Given the description of an element on the screen output the (x, y) to click on. 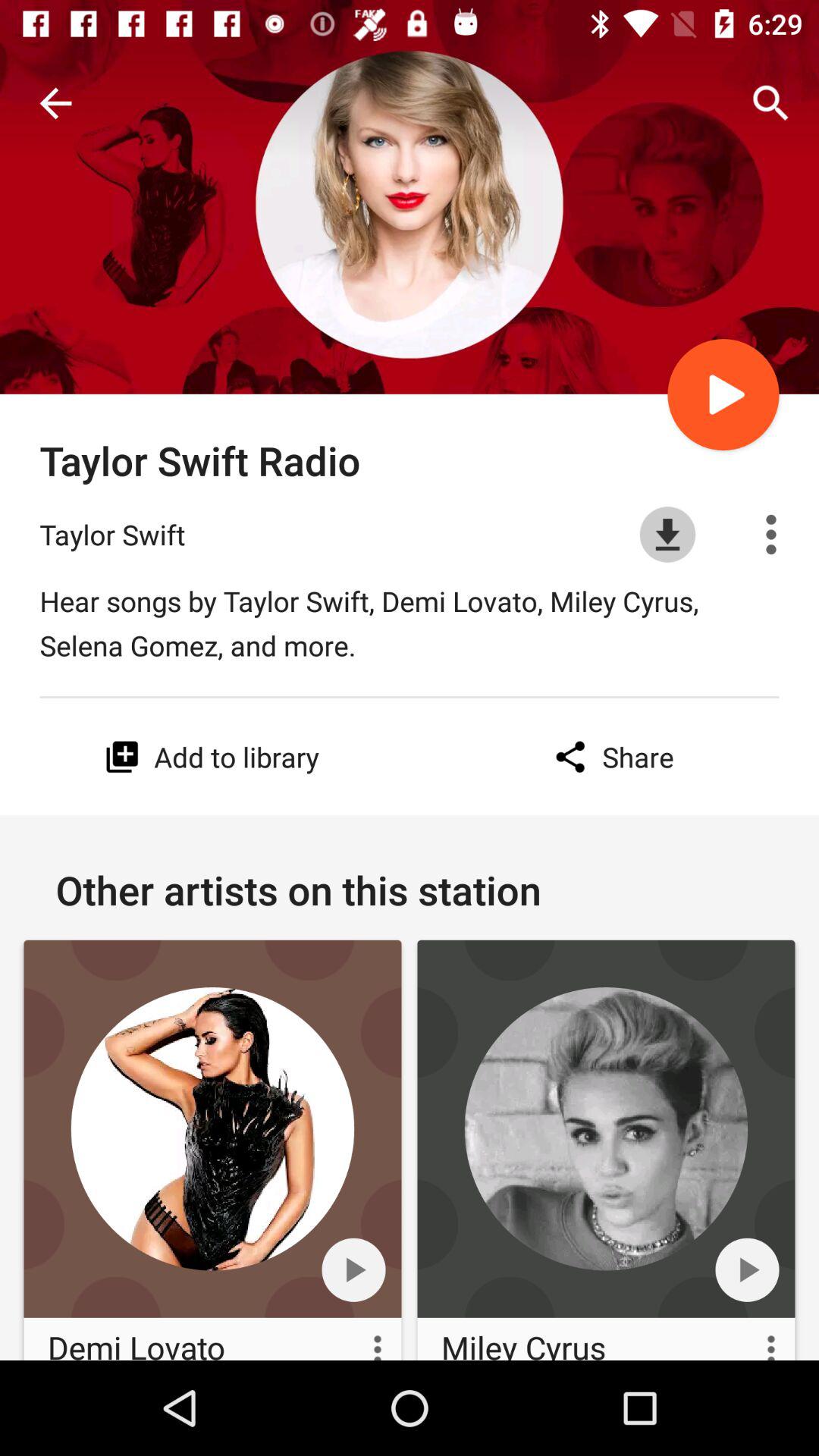
click on share (610, 756)
click on the search button (771, 103)
select the button right to demi lovato (361, 1338)
click on play icon above download icon (723, 394)
click on the button beside add to library (122, 757)
